Given the description of an element on the screen output the (x, y) to click on. 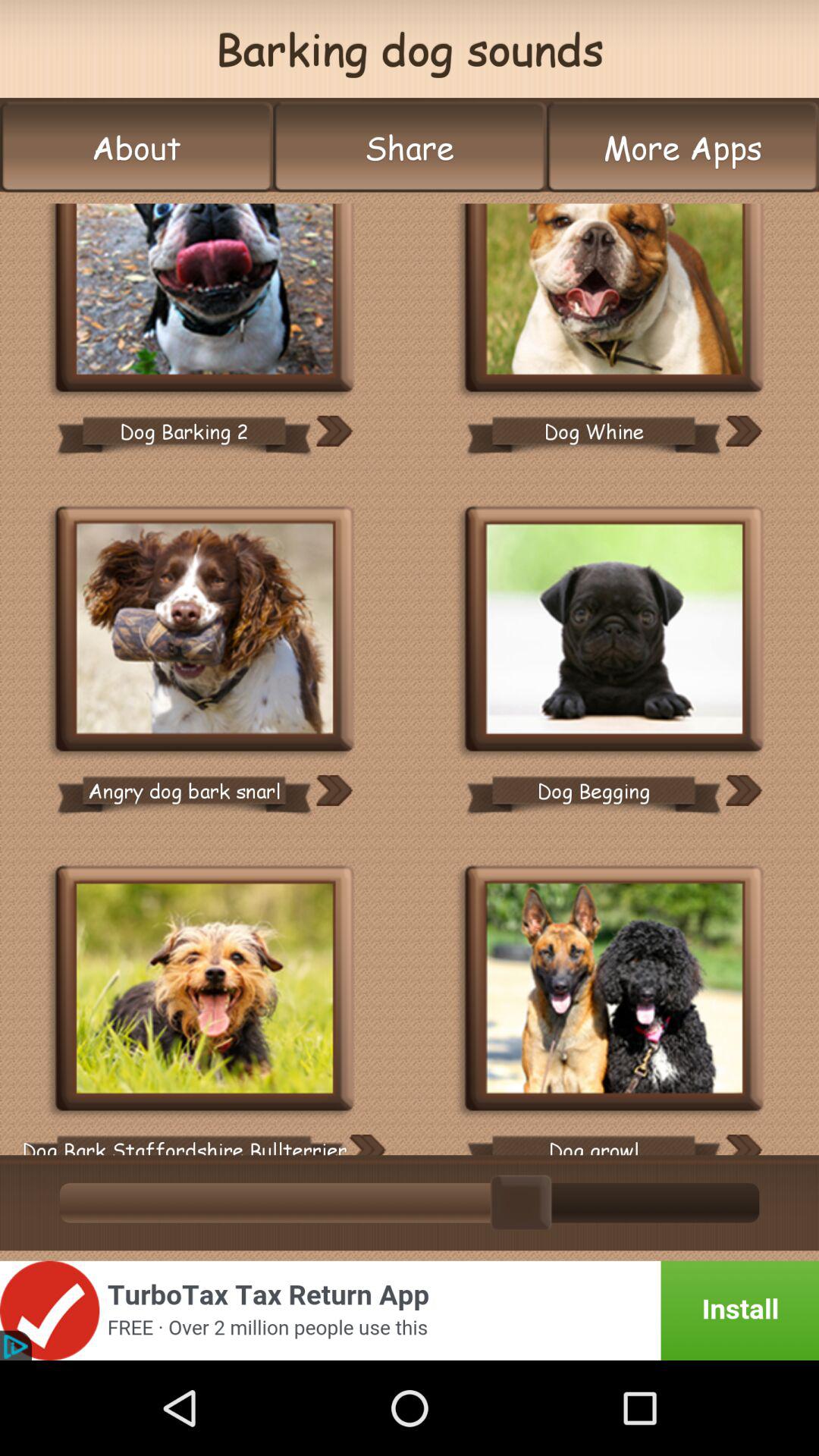
swipe to more apps (682, 147)
